Given the description of an element on the screen output the (x, y) to click on. 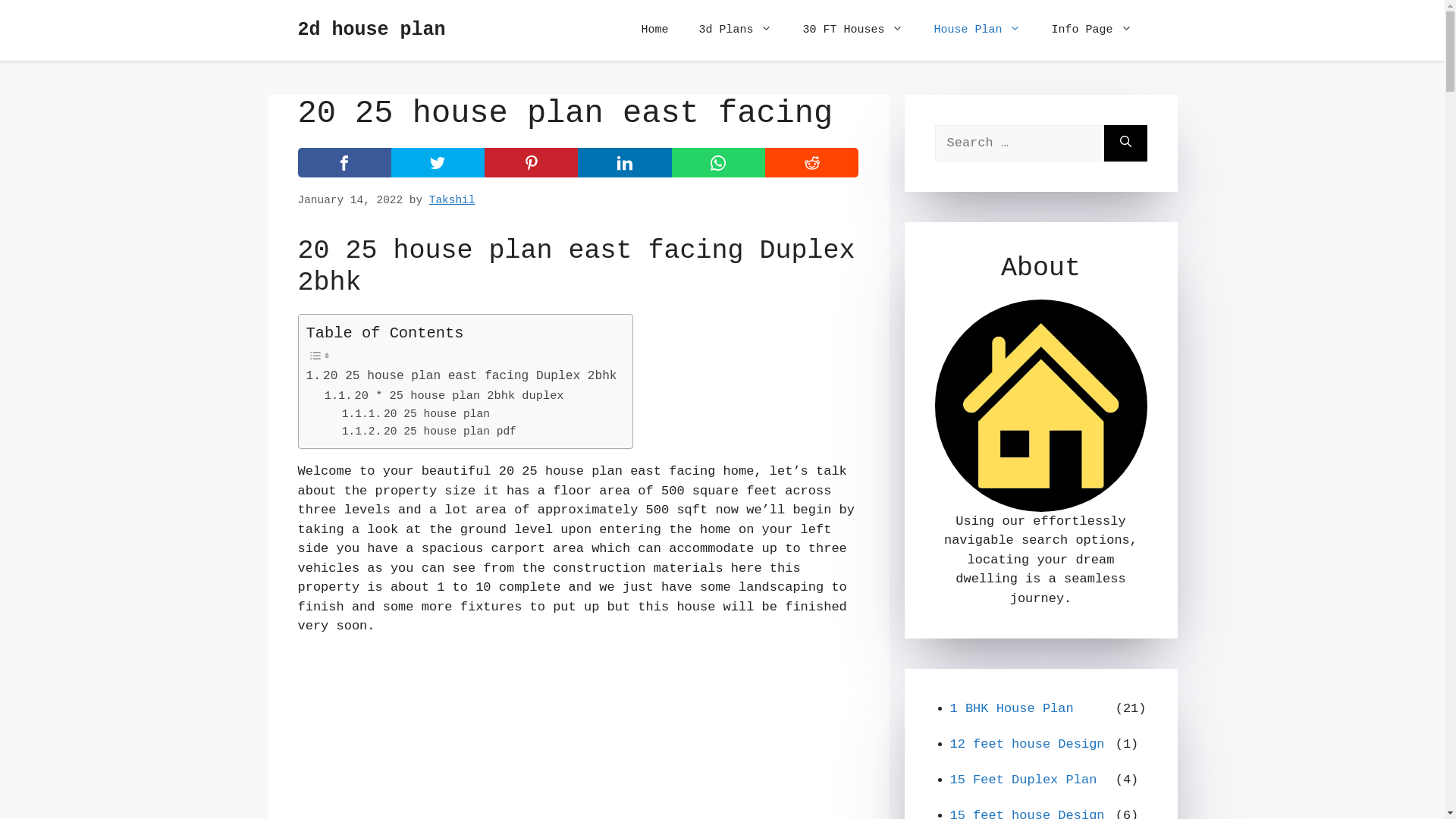
Takshil Element type: text (452, 200)
20 25 house plan east facing Duplex 2bhk Element type: text (461, 376)
3d Plans Element type: text (735, 30)
30 FT Houses Element type: text (852, 30)
20 * 25 house plan 2bhk duplex Element type: text (444, 395)
20 25 house plan pdf Element type: text (429, 431)
15 Feet Duplex Plan Element type: text (1028, 785)
Info Page Element type: text (1090, 30)
12 feet house Design Element type: text (1028, 749)
Home Element type: text (654, 30)
Search for: Element type: hover (1018, 143)
1 BHK House Plan Element type: text (1028, 713)
2d house plan Element type: text (371, 29)
20 25 house plan Element type: text (415, 414)
House Plan Element type: text (976, 30)
